Given the description of an element on the screen output the (x, y) to click on. 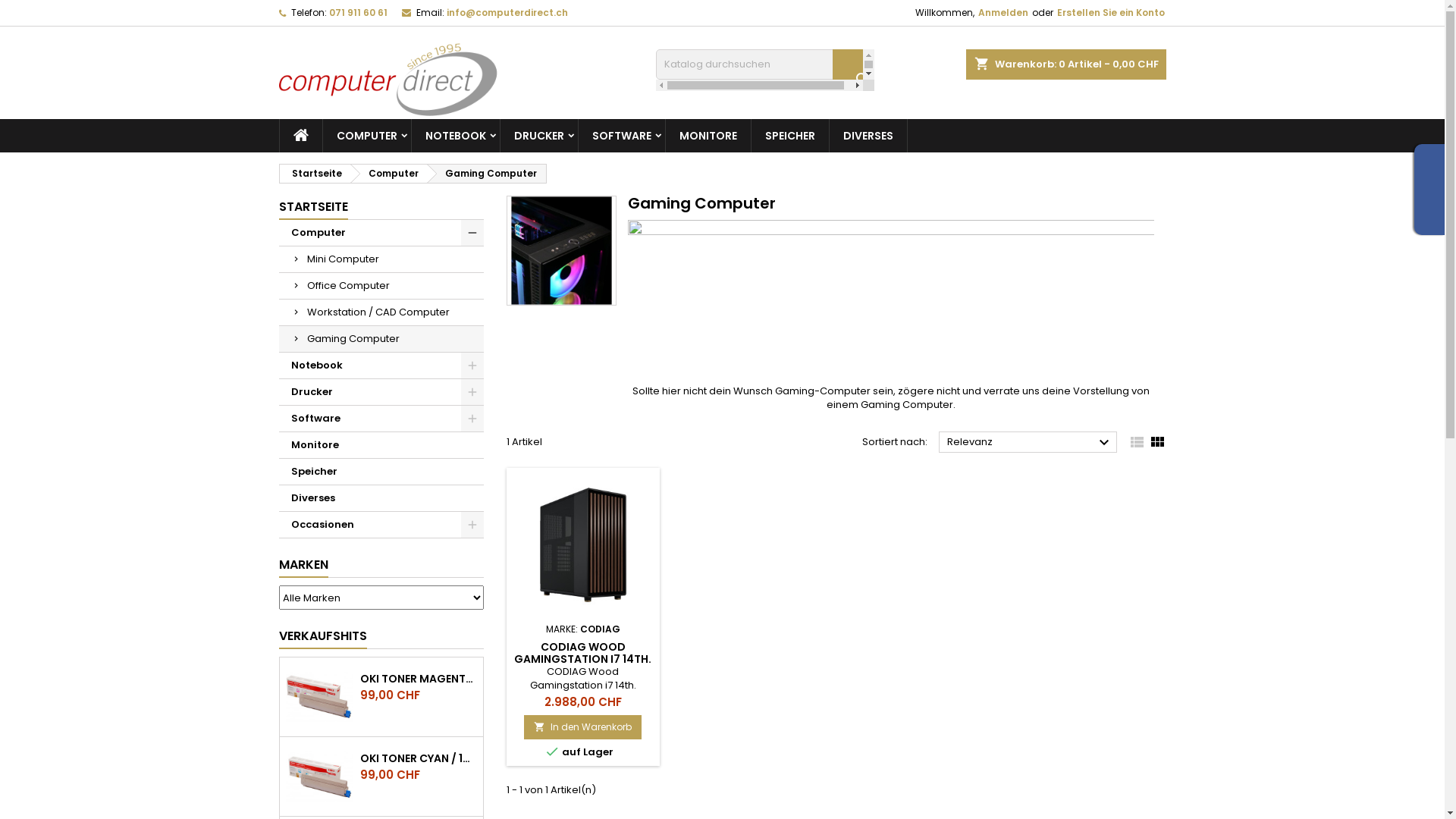
Software Element type: text (381, 418)
Mini Computer Element type: text (381, 259)
CODIAG Element type: text (600, 628)
Speicher Element type: text (381, 471)
DRUCKER Element type: text (538, 135)
Office Computer Element type: text (381, 286)
Drucker Element type: text (381, 392)
Occasionen Element type: text (381, 524)
Diverses Element type: text (381, 498)
SOFTWARE Element type: text (620, 135)
Monitore Element type: text (381, 445)
VERKAUFSHITS Element type: text (323, 636)
OKI TONER CYAN / 10.000 SEITEN, ES8453, ES8473, ES8483 MFP Element type: text (418, 758)
Erstellen Sie ein Konto Element type: text (1110, 12)
Gaming Computer Element type: text (486, 173)
Anmelden Element type: text (1002, 12)
MARKEN Element type: text (303, 565)
Workstation / CAD Computer Element type: text (381, 312)
CODIAG WOOD GAMINGSTATION I7 14TH. RTX4080 Element type: text (582, 658)
Computer Element type: text (381, 232)
MONITORE Element type: text (707, 135)
info@computerdirect.ch Element type: text (506, 12)
SPEICHER Element type: text (789, 135)
STARTSEITE Element type: text (313, 207)
COMPUTER Element type: text (367, 135)
DIVERSES Element type: text (867, 135)
Startseite Element type: text (313, 173)
Computer Element type: text (388, 173)
Gaming Computer Element type: text (381, 339)
Notebook Element type: text (381, 365)
shopping_cart
Warenkorb: 0 Artikel - 0,00 CHF Element type: text (1066, 64)
NOTEBOOK Element type: text (454, 135)
